Given the description of an element on the screen output the (x, y) to click on. 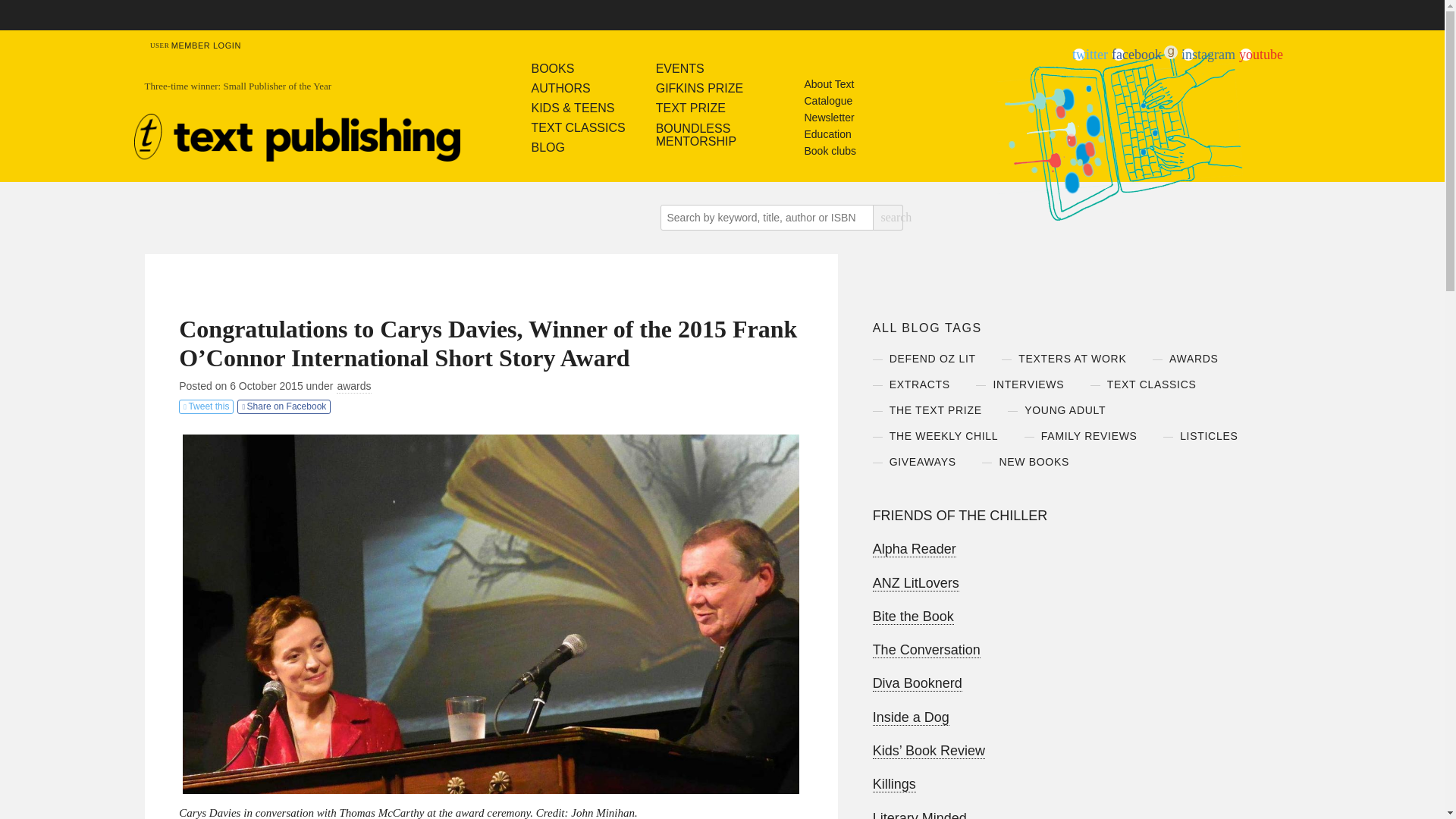
Tweet this (205, 406)
TEXT CLASSICS (700, 134)
TEXT PRIZE (577, 127)
BLOG (700, 107)
GIFKINS PRIZE (577, 147)
DEFEND OZ LIT (700, 88)
instagram (932, 358)
Share on Facebook (1207, 54)
AWARDS (283, 406)
